Given the description of an element on the screen output the (x, y) to click on. 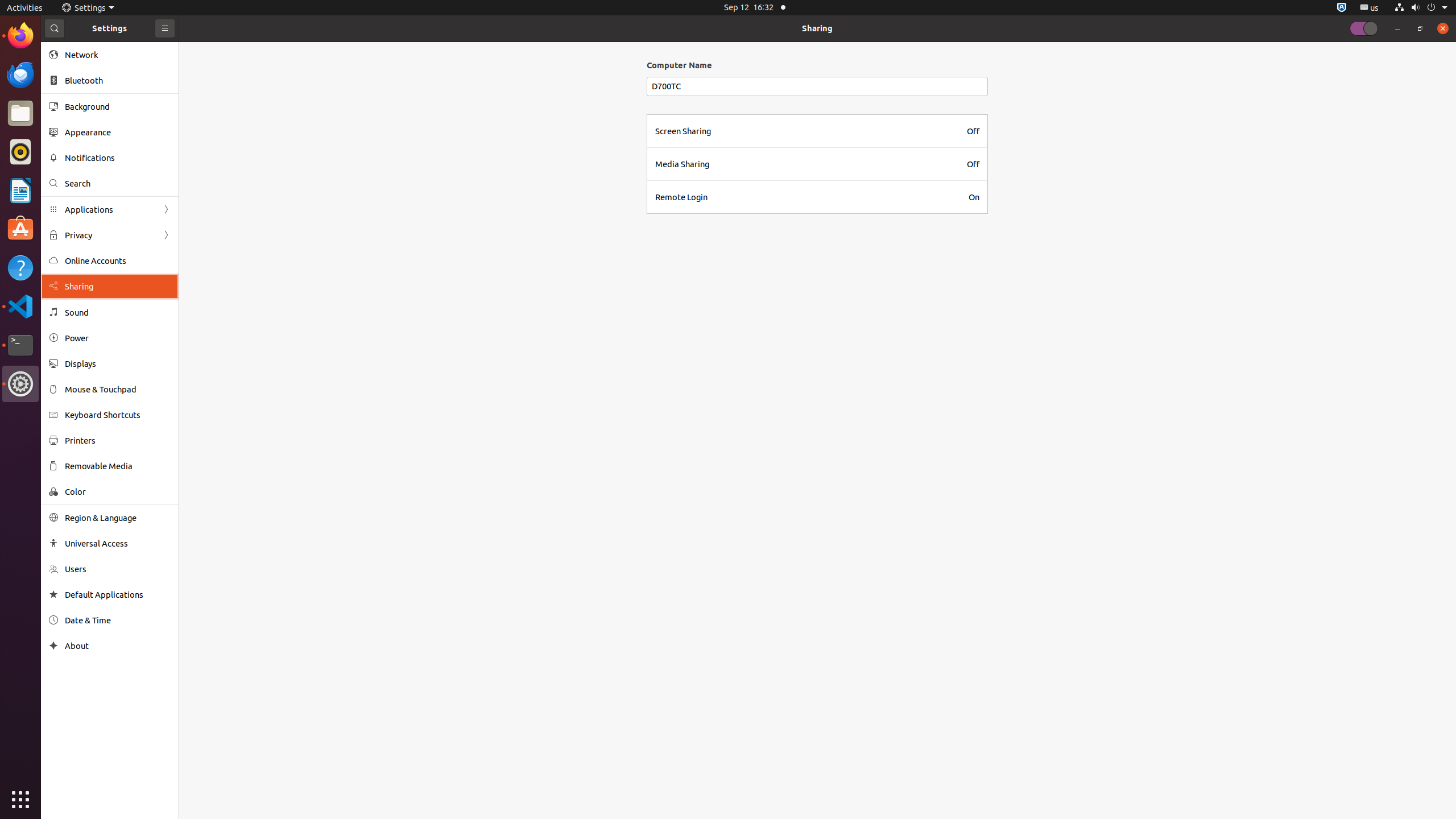
Terminal Element type: push-button (20, 344)
Search Element type: label (117, 183)
Removable Media Element type: label (117, 465)
IsaHelpMain.desktop Element type: label (75, 170)
